Given the description of an element on the screen output the (x, y) to click on. 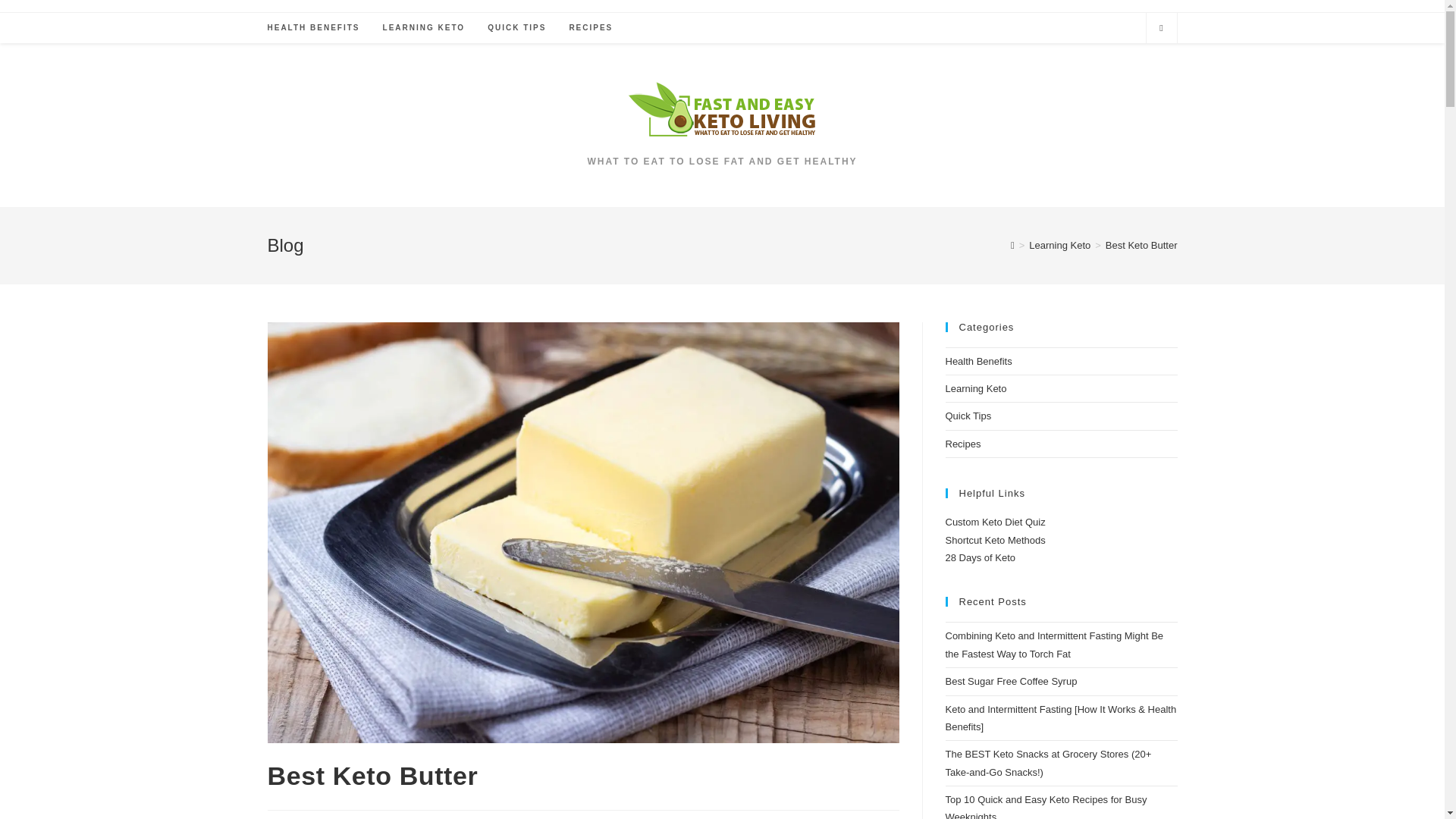
Best Keto Butter (1141, 244)
QUICK TIPS (516, 28)
Learning Keto (1059, 244)
LEARNING KETO (424, 28)
HEALTH BENEFITS (313, 28)
RECIPES (590, 28)
